Given the description of an element on the screen output the (x, y) to click on. 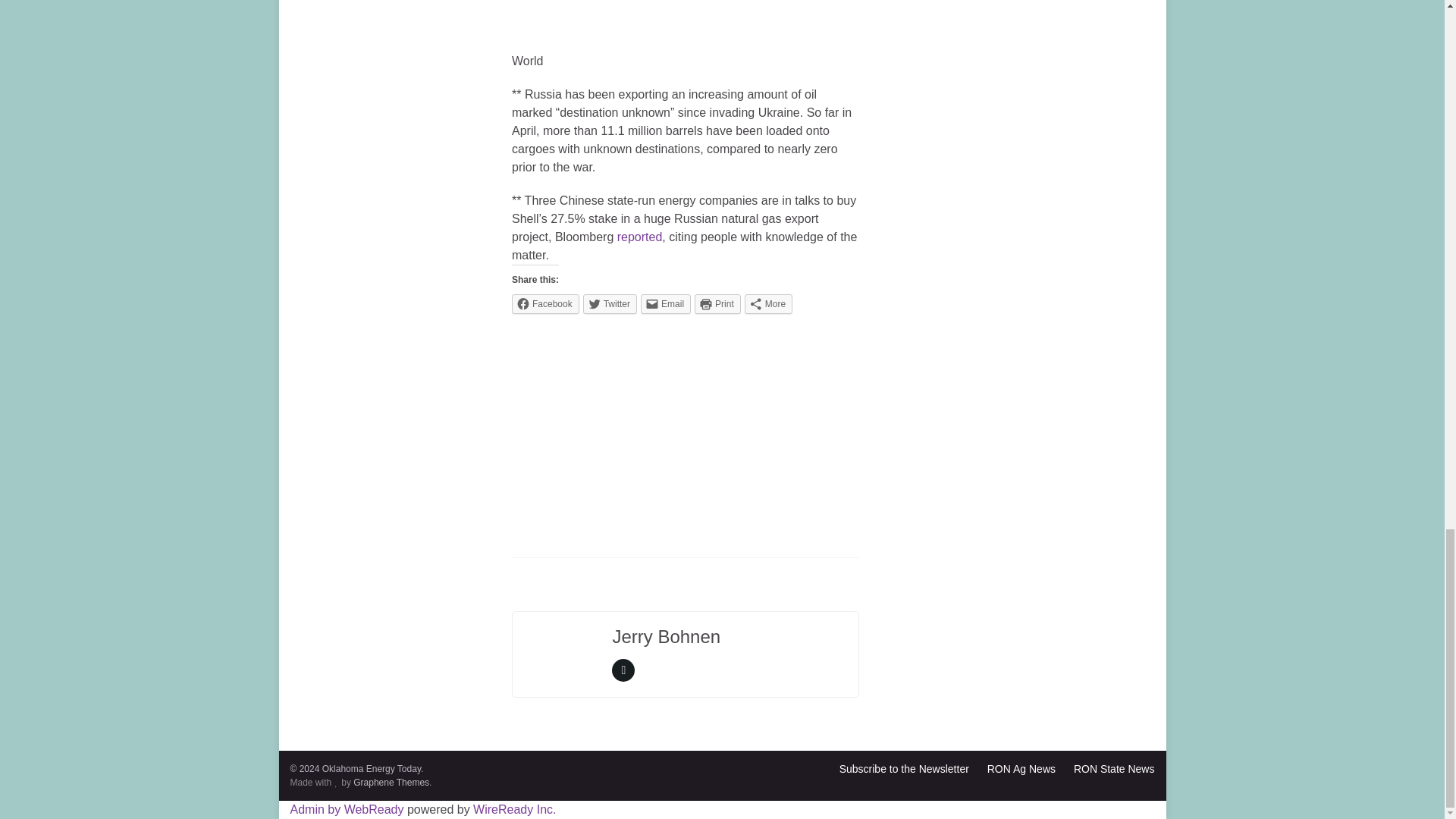
More (768, 303)
WireReady Inc. (514, 809)
Admin by WebReady (346, 809)
RON State News (1114, 768)
Facebook (545, 303)
Click to email a link to a friend (665, 303)
RON Ag News (1021, 768)
Subscribe to the Newsletter (904, 768)
Click to share on Facebook (545, 303)
Click to print (717, 303)
